Given the description of an element on the screen output the (x, y) to click on. 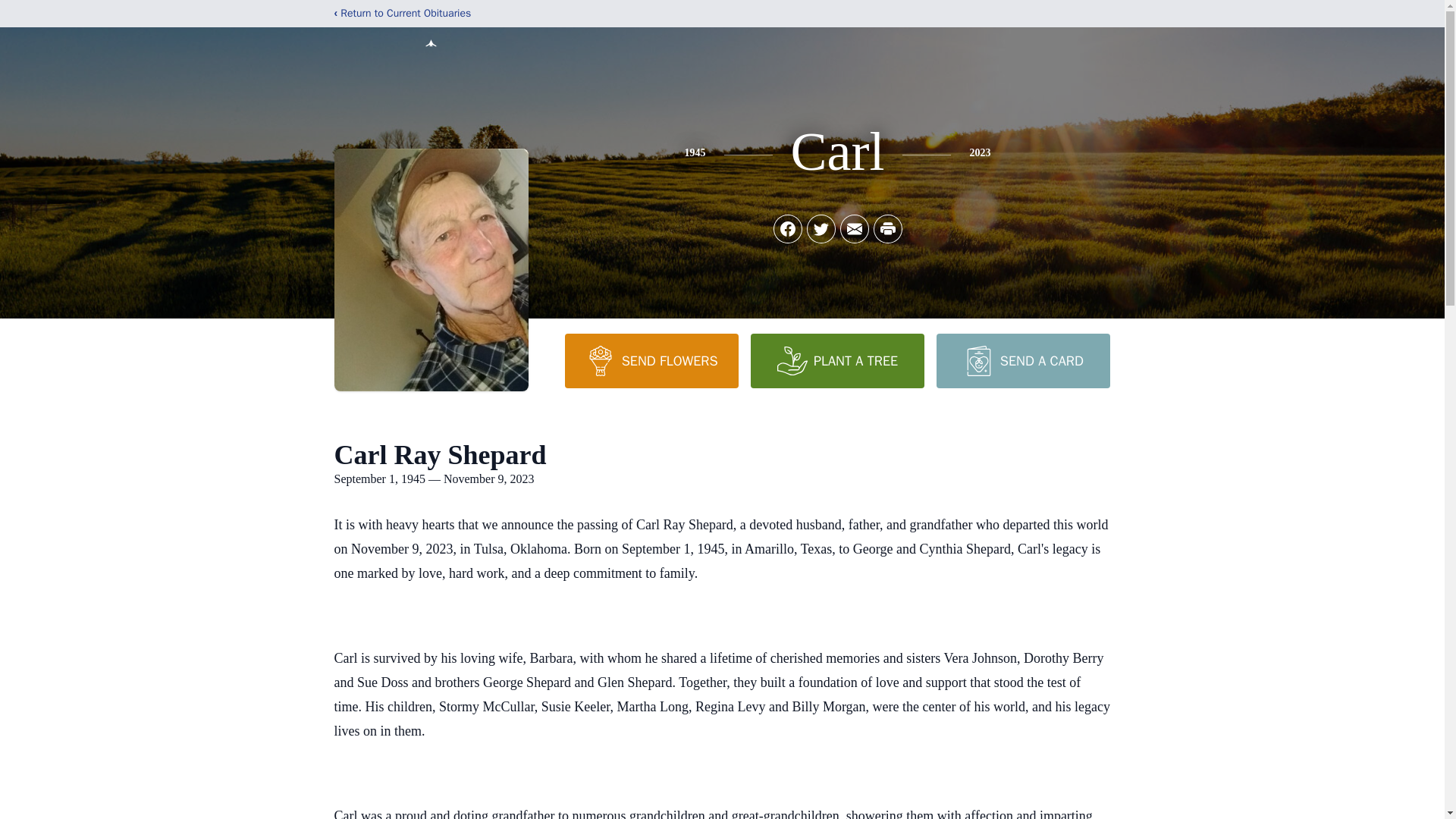
SEND FLOWERS (651, 360)
PLANT A TREE (837, 360)
SEND A CARD (1022, 360)
